Given the description of an element on the screen output the (x, y) to click on. 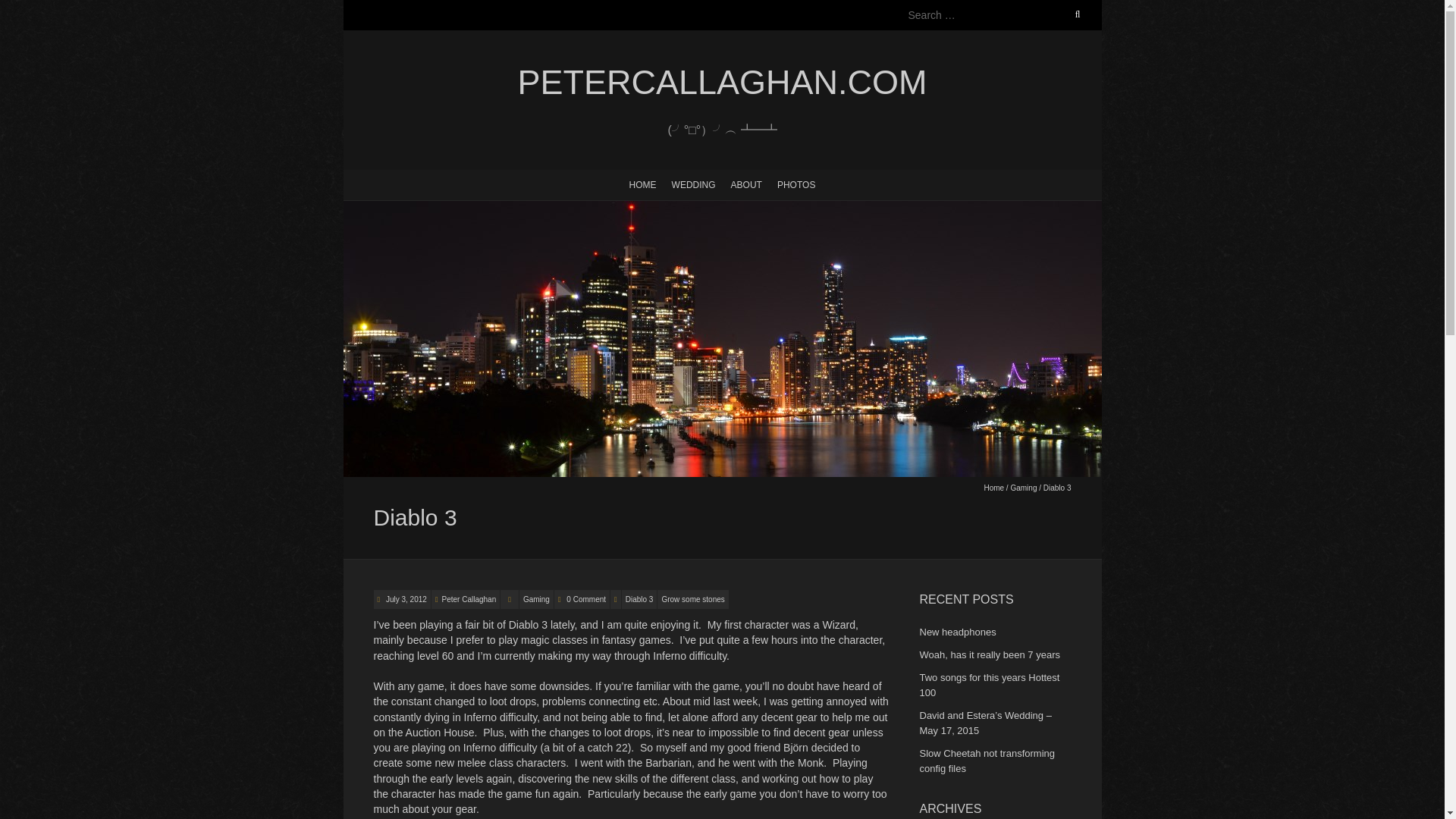
Home (994, 488)
PETERCALLAGHAN.COM (721, 82)
July 3, 2012 (405, 599)
Two songs for this years Hottest 100 (988, 684)
Gaming (536, 599)
New headphones (956, 632)
ABOUT (746, 184)
PHOTOS (796, 184)
Grow some stones (693, 599)
Diablo 3 (639, 599)
Diablo 3 (405, 599)
Woah, has it really been 7 years (988, 654)
0 Comment (585, 599)
View all posts by Peter Callaghan (469, 599)
Peter Callaghan (469, 599)
